Given the description of an element on the screen output the (x, y) to click on. 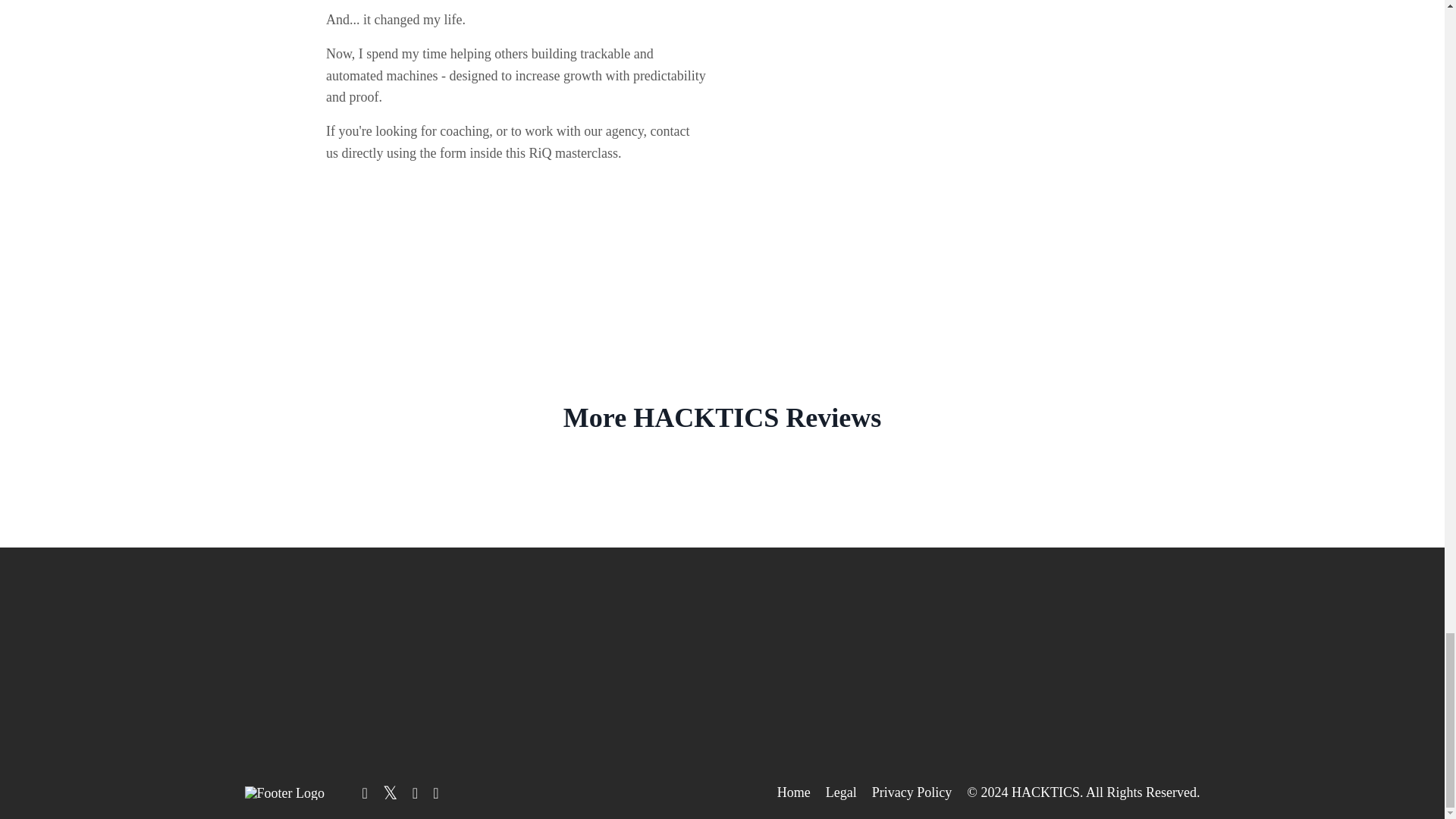
Privacy Policy (912, 792)
Legal (841, 792)
Home (793, 792)
